Given the description of an element on the screen output the (x, y) to click on. 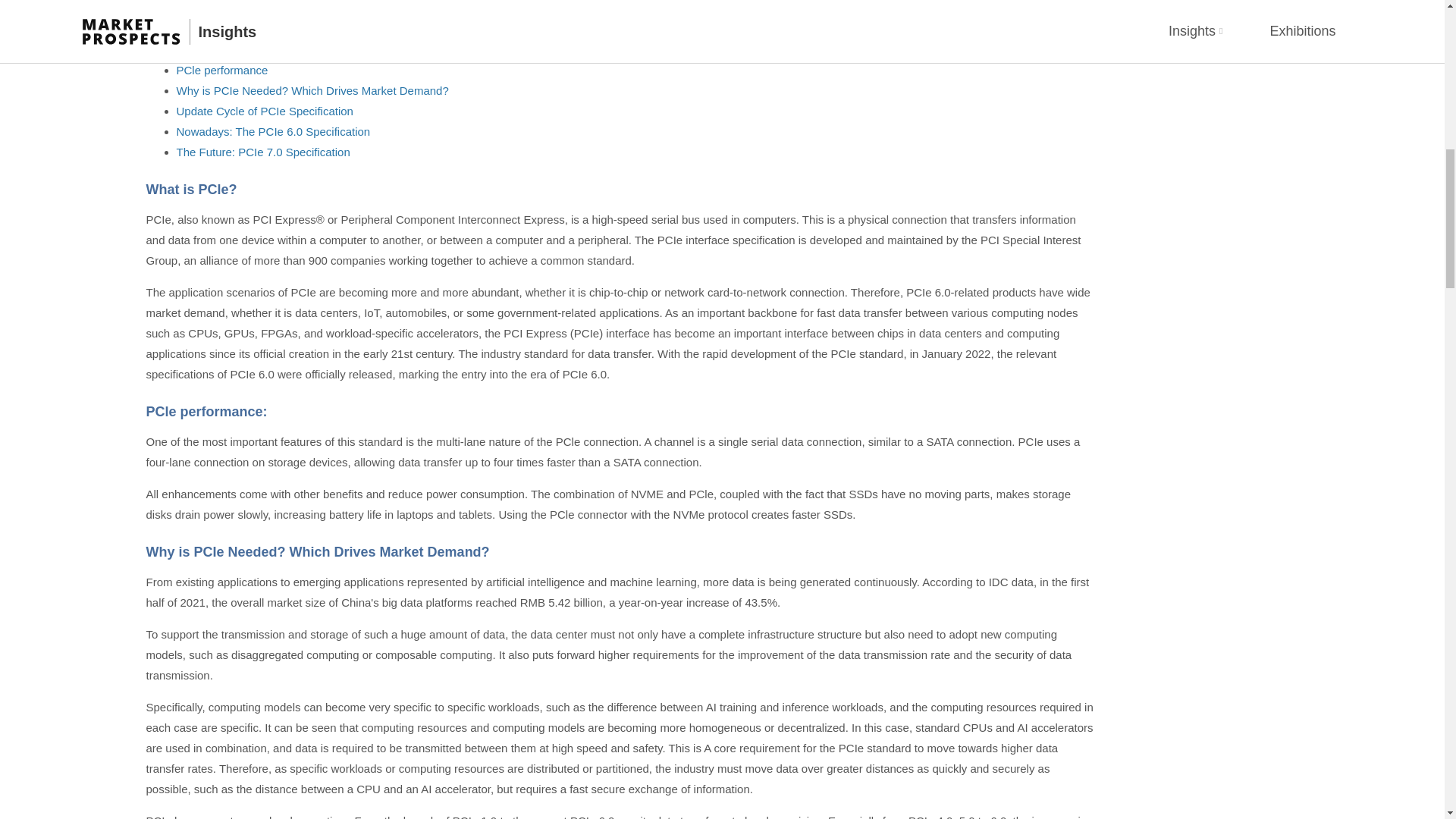
Why is PCIe Needed? Which Drives Market Demand? (312, 90)
PCle performance (221, 69)
Nowadays: The PCIe 6.0 Specification (272, 131)
Update Cycle of PCIe Specification (264, 110)
The Future: PCIe 7.0 Specification (262, 151)
What is PCle? (211, 49)
